Given the description of an element on the screen output the (x, y) to click on. 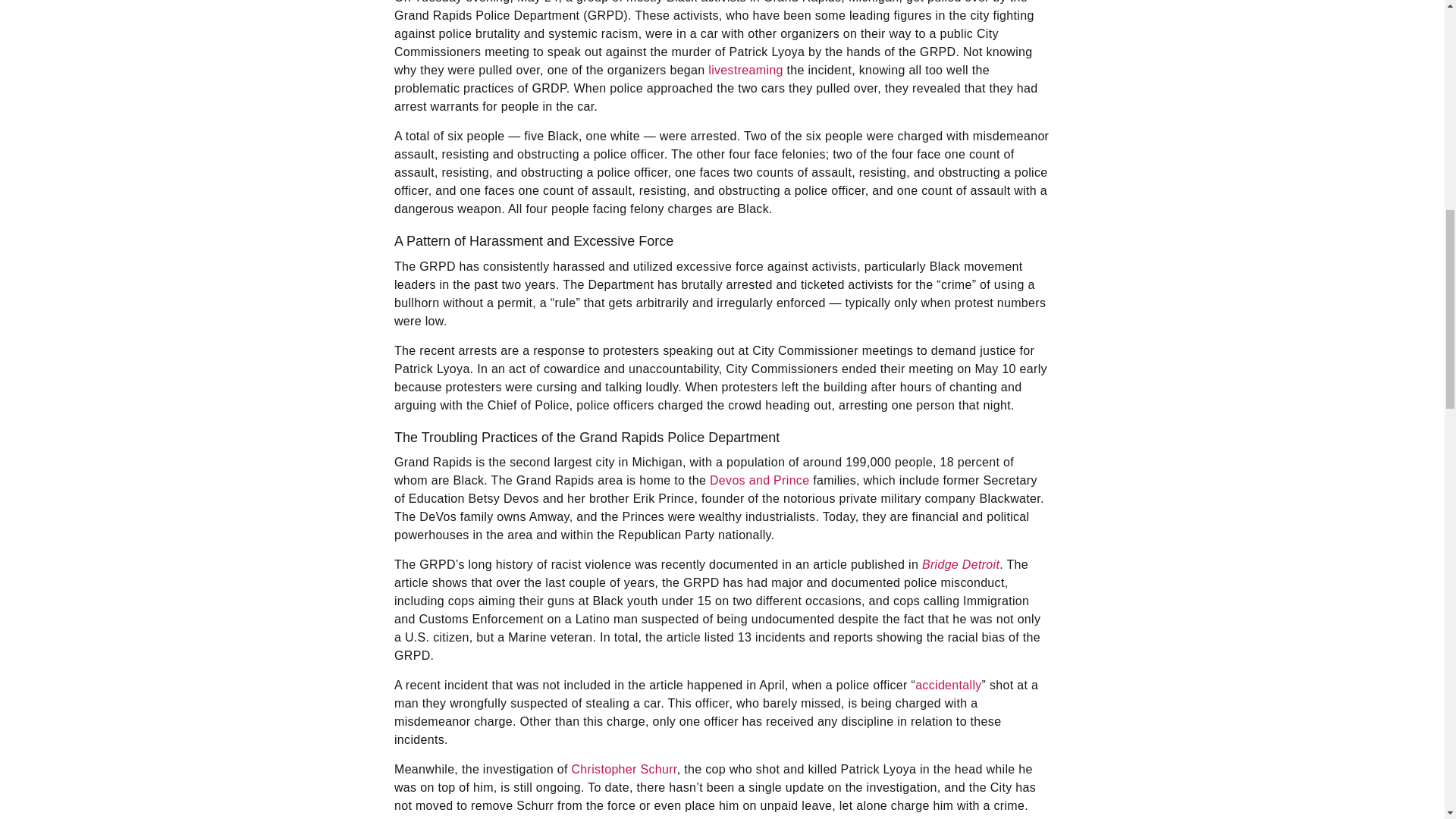
livestreaming (745, 69)
Bridge Detroit (959, 563)
Devos and Prince (759, 480)
accidentally (948, 684)
